Given the description of an element on the screen output the (x, y) to click on. 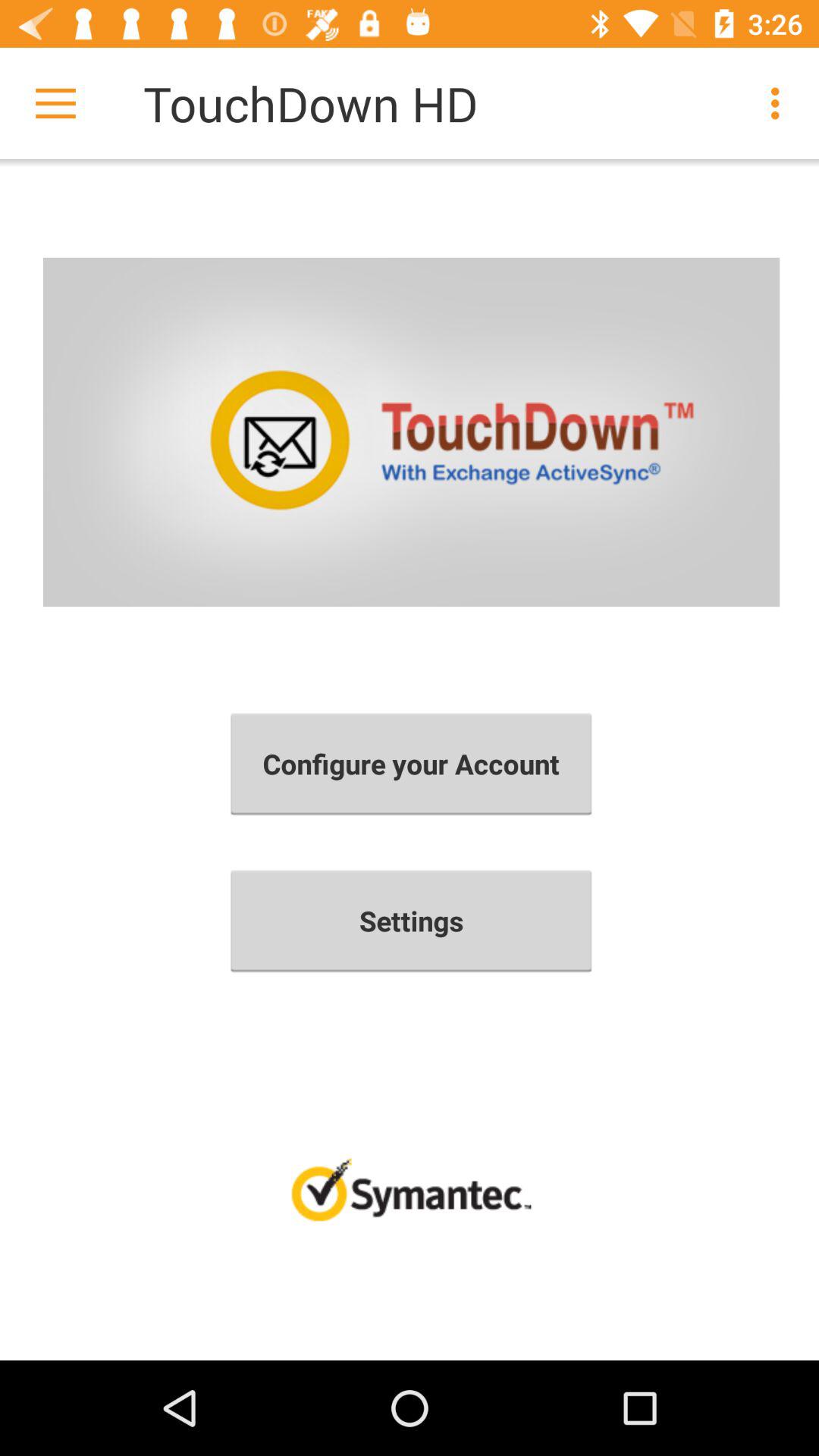
open settings (410, 920)
